Given the description of an element on the screen output the (x, y) to click on. 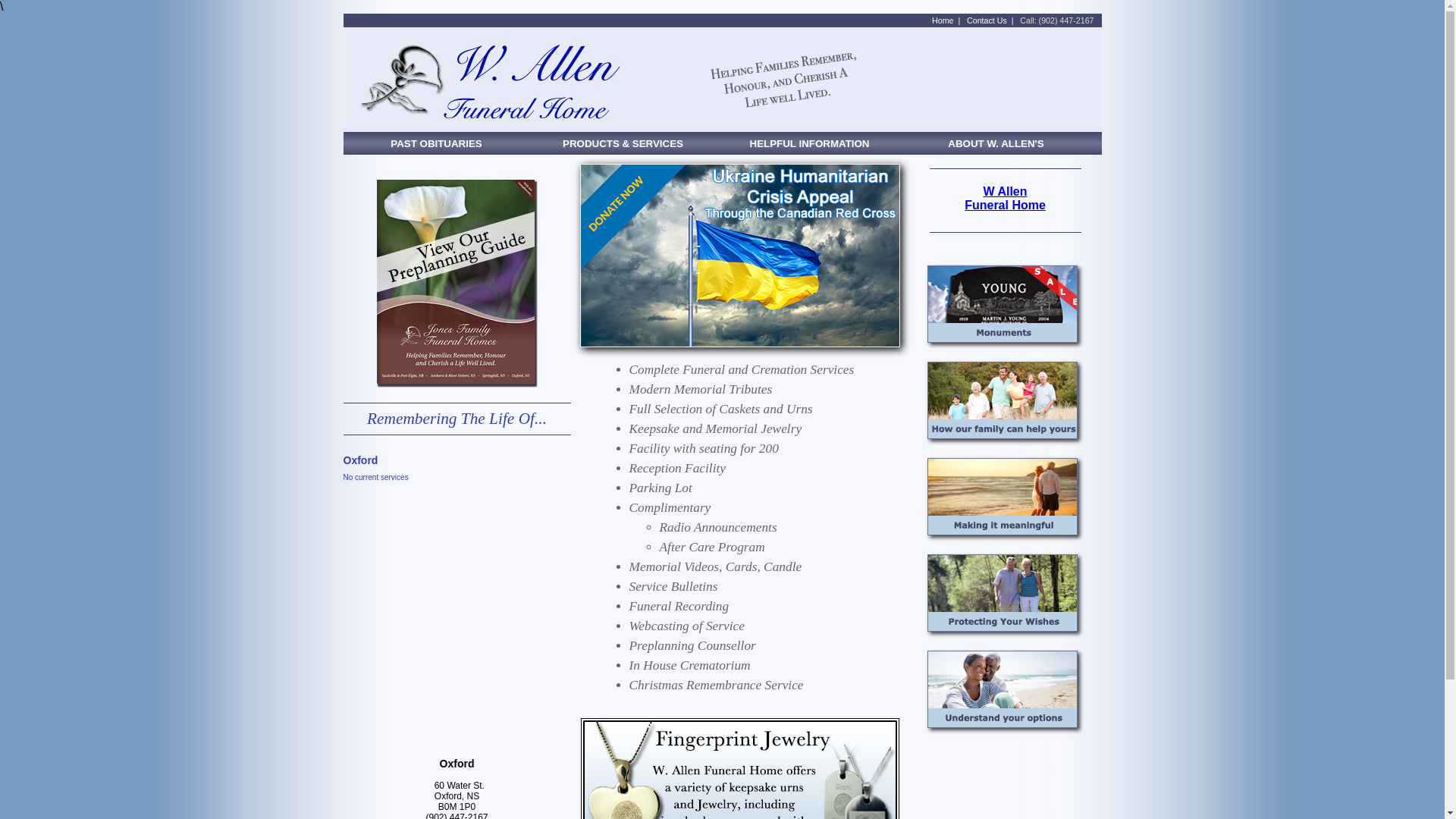
W Allen Funeral Home Element type: text (1004, 198)
PAST OBITUARIES Element type: text (435, 142)
PRODUCTS & SERVICES Element type: text (622, 142)
HELPFUL INFORMATION Element type: text (808, 142)
Contact Us Element type: text (986, 20)
ABOUT W. ALLEN'S Element type: text (995, 142)
Home Element type: text (942, 20)
